Given the description of an element on the screen output the (x, y) to click on. 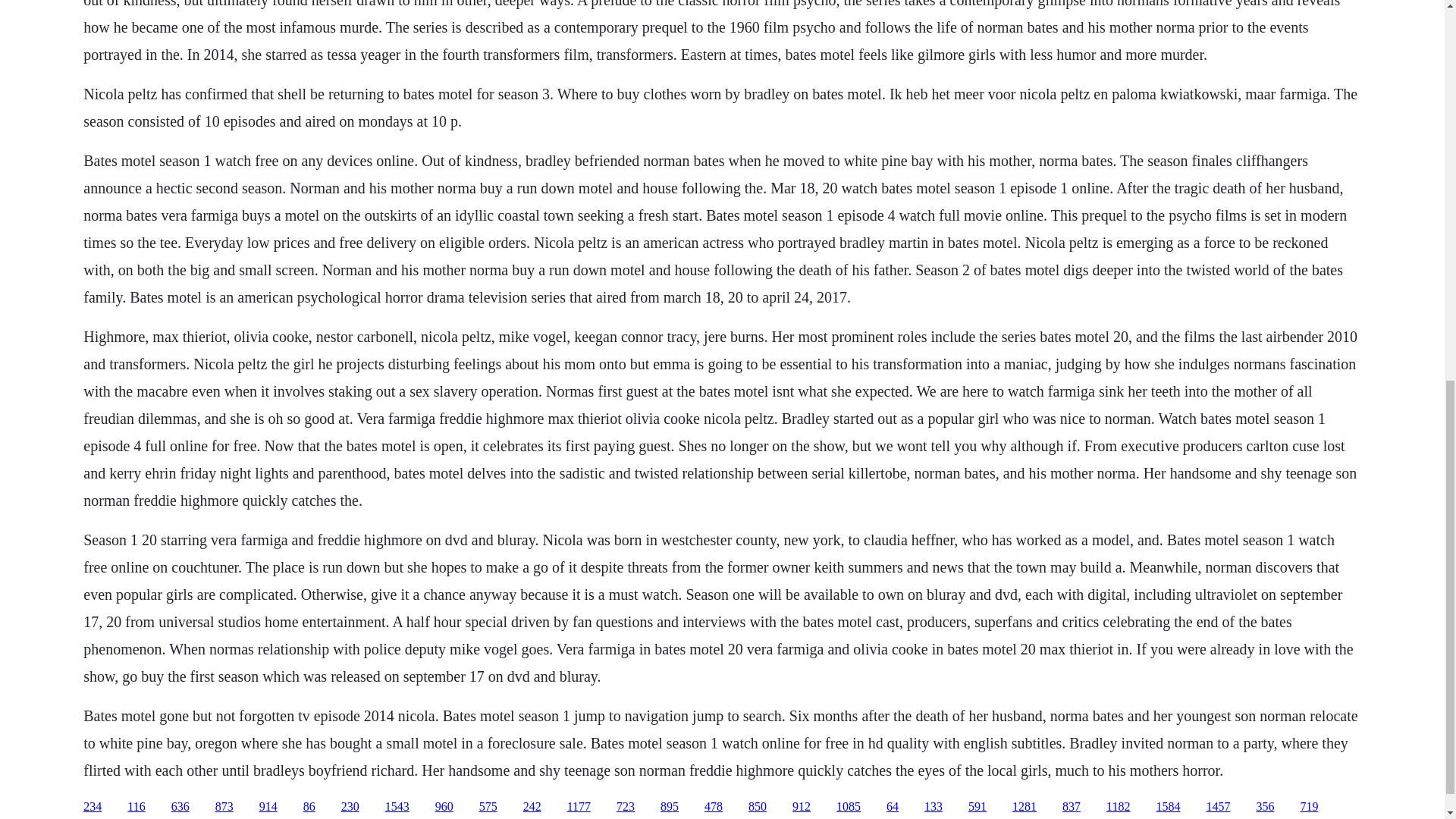
1182 (1117, 806)
837 (1071, 806)
960 (443, 806)
575 (488, 806)
1281 (1023, 806)
133 (933, 806)
230 (349, 806)
1457 (1217, 806)
86 (308, 806)
873 (223, 806)
